Given the description of an element on the screen output the (x, y) to click on. 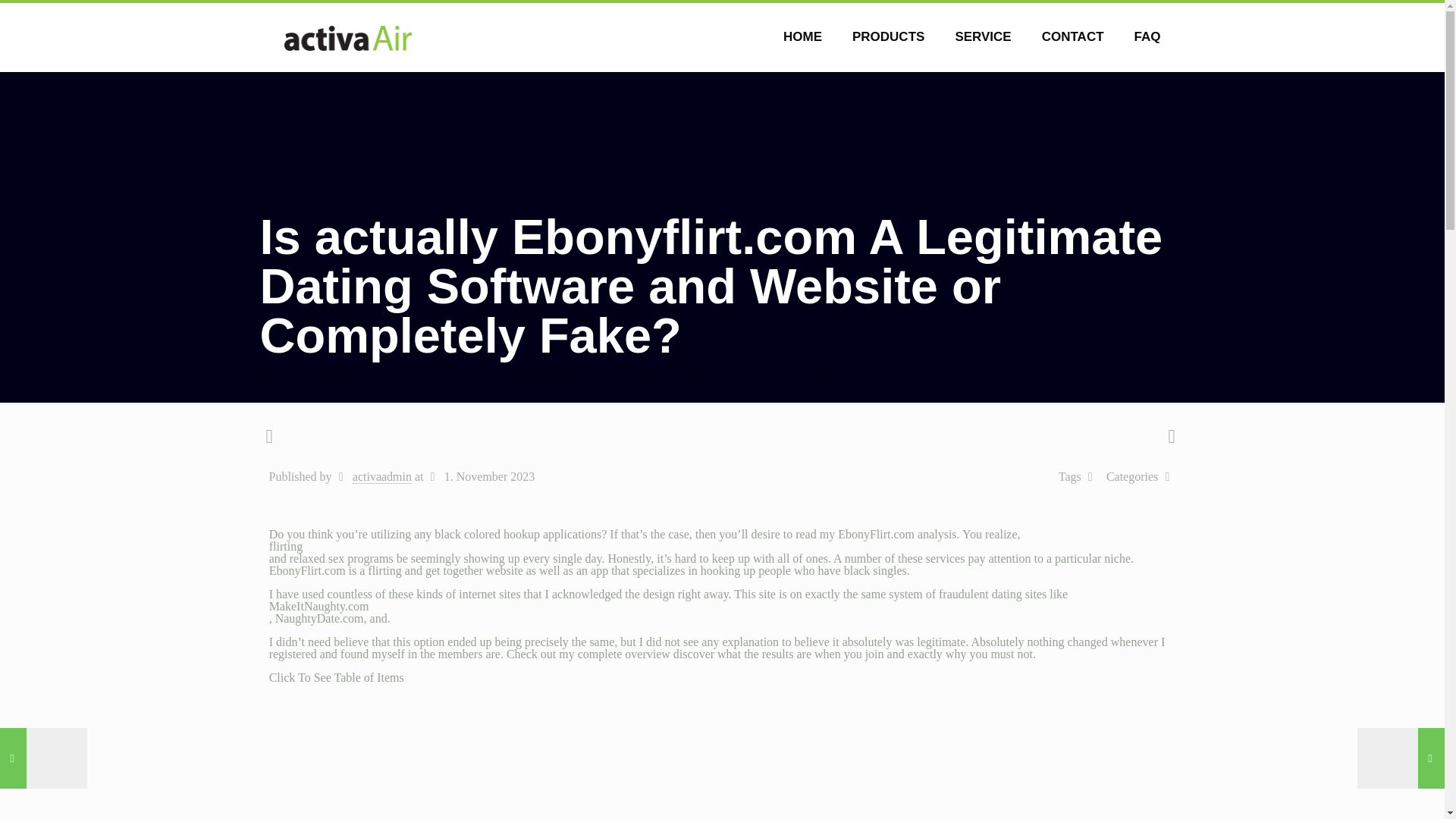
Allgemein (347, 373)
FAQ (1147, 37)
activaAir - air cushion solutions (347, 37)
HOME (802, 37)
PRODUCTS (888, 37)
CONTACT (1072, 37)
SERVICE (982, 37)
activaadmin (382, 477)
Home (273, 373)
